Given the description of an element on the screen output the (x, y) to click on. 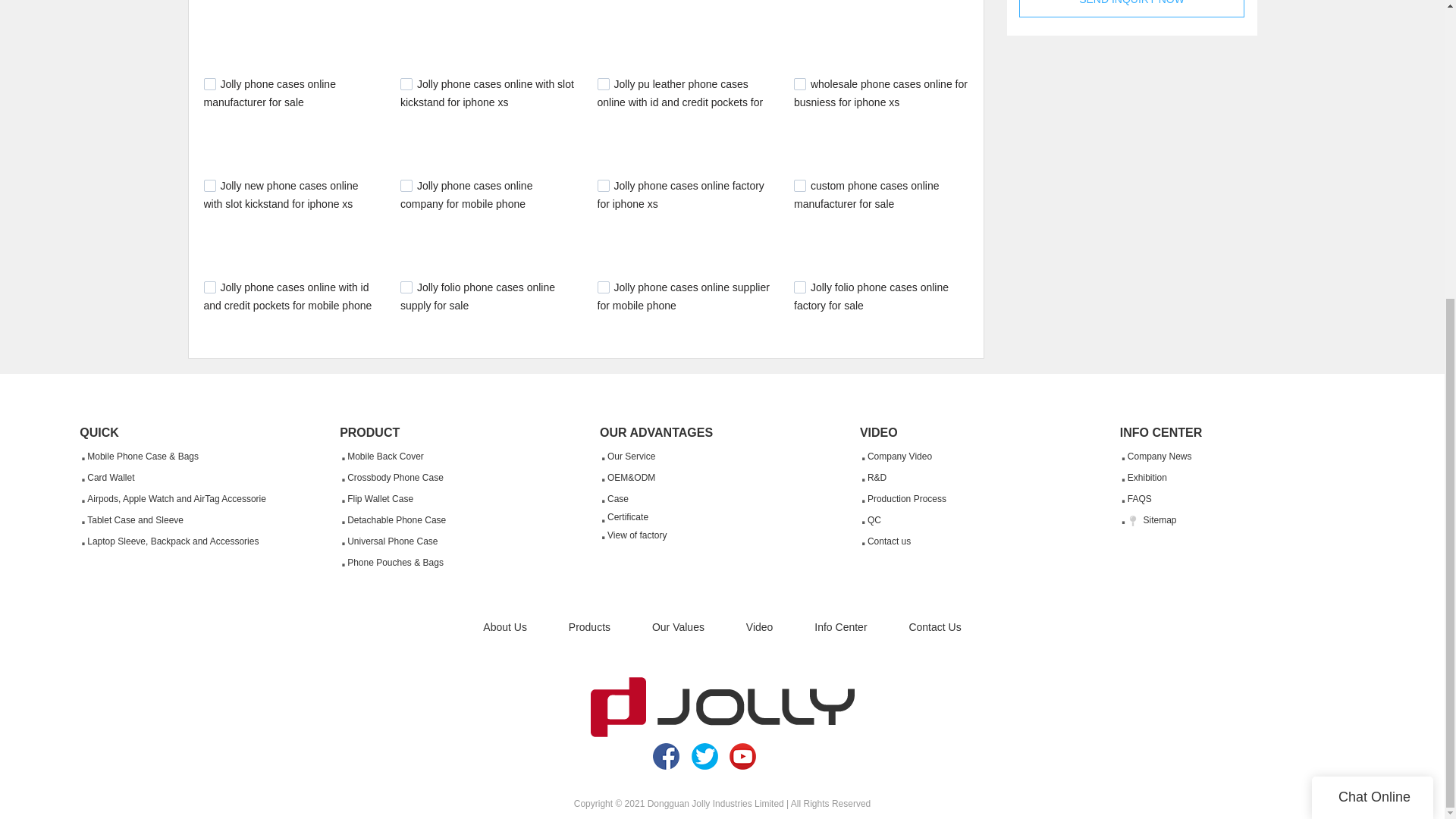
Jolly folio phone cases online factory for sale (871, 296)
4090 (406, 185)
Jolly phone cases online with slot kickstand for iphone xs (486, 92)
3953 (209, 287)
Jolly phone cases online supplier for mobile phone (683, 296)
3957 (799, 185)
3878 (406, 287)
wholesale phone cases online for busniess for iphone xs (880, 92)
